Given the description of an element on the screen output the (x, y) to click on. 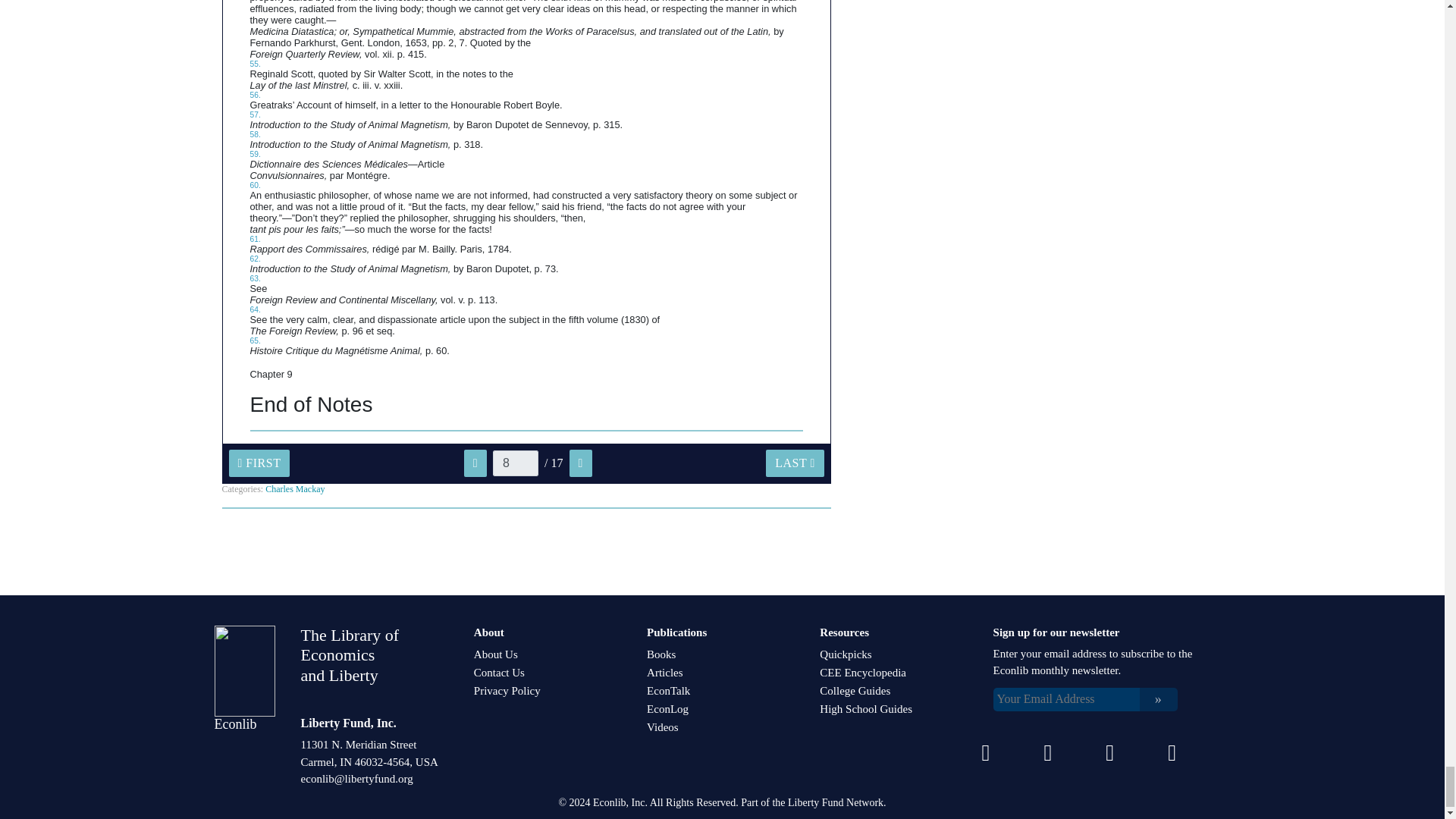
Return to text (255, 63)
Return to text (255, 239)
Return to text (255, 309)
Return to text (255, 94)
Return to text (255, 340)
Return to text (255, 153)
Return to text (255, 258)
Return to text (255, 114)
Return to text (255, 184)
Return to text (255, 134)
